Given the description of an element on the screen output the (x, y) to click on. 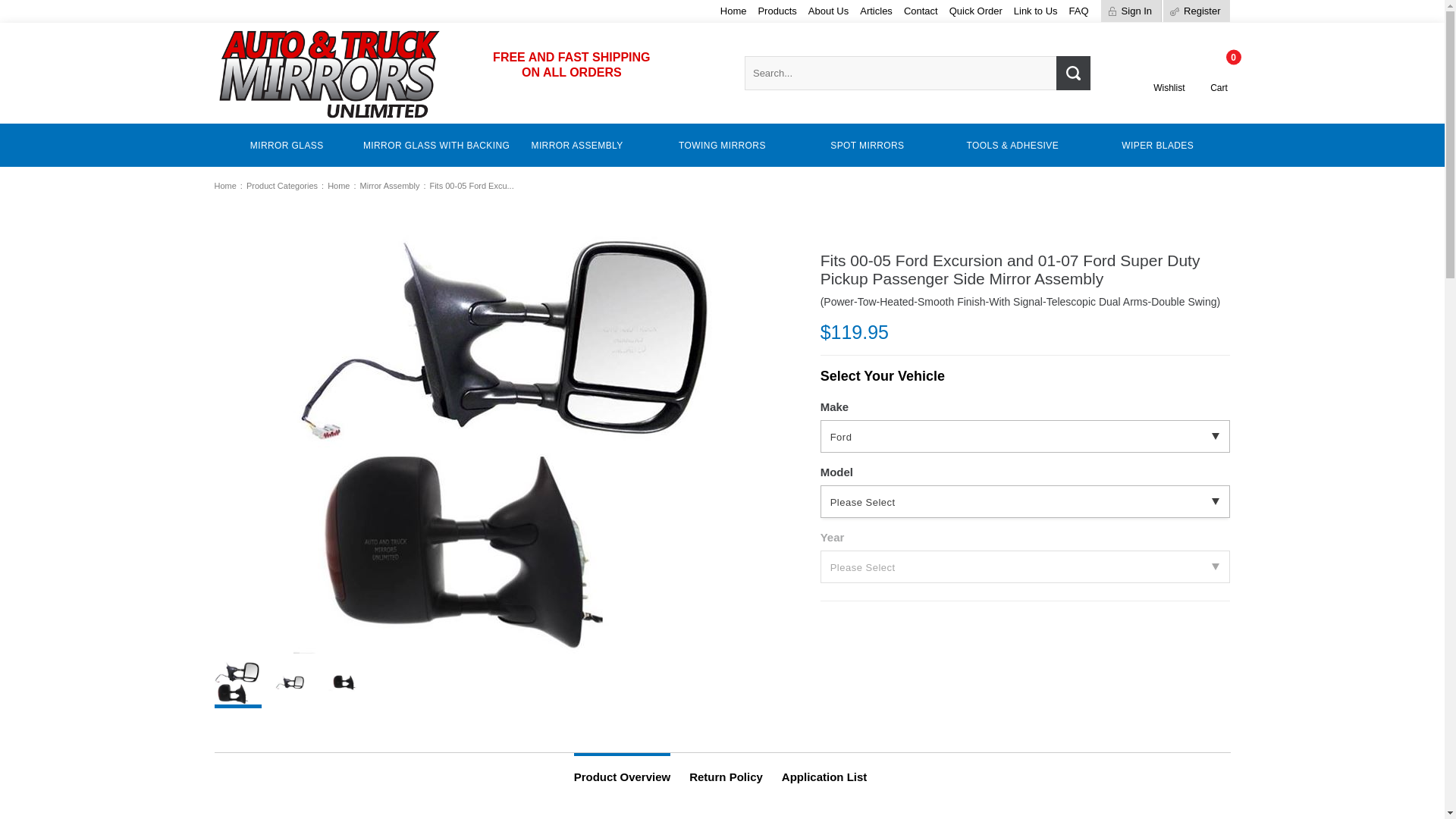
Towing Mirrors (721, 145)
 Products (776, 10)
Link to Us (1035, 10)
Contact (920, 10)
Articles (876, 10)
FAQ (1078, 10)
Register (1195, 11)
About Us (828, 10)
Mirror Glass with backing (431, 145)
Contact (920, 10)
